Given the description of an element on the screen output the (x, y) to click on. 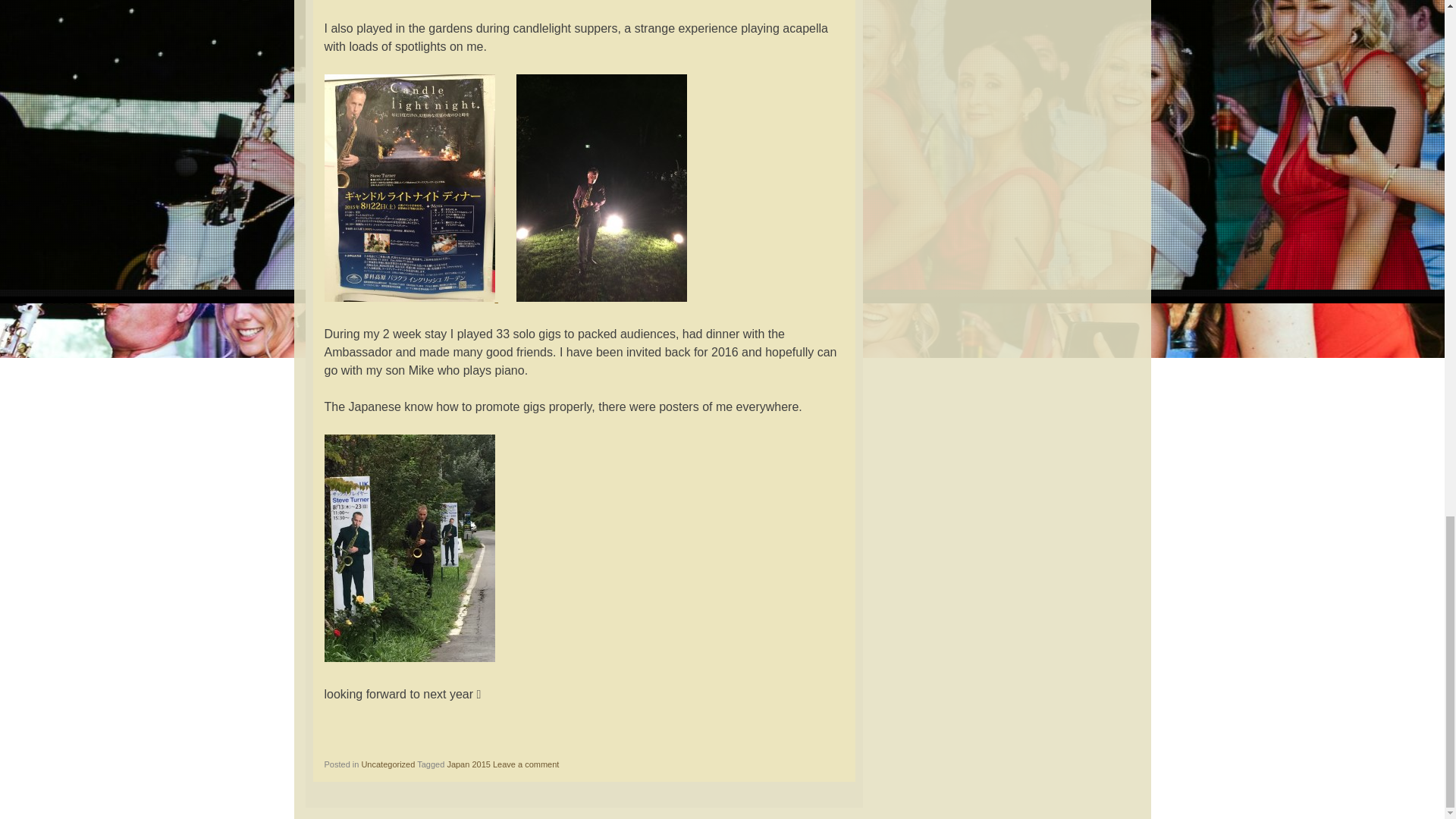
Uncategorized (387, 764)
Japan 2015 (468, 764)
Leave a comment (526, 764)
